Given the description of an element on the screen output the (x, y) to click on. 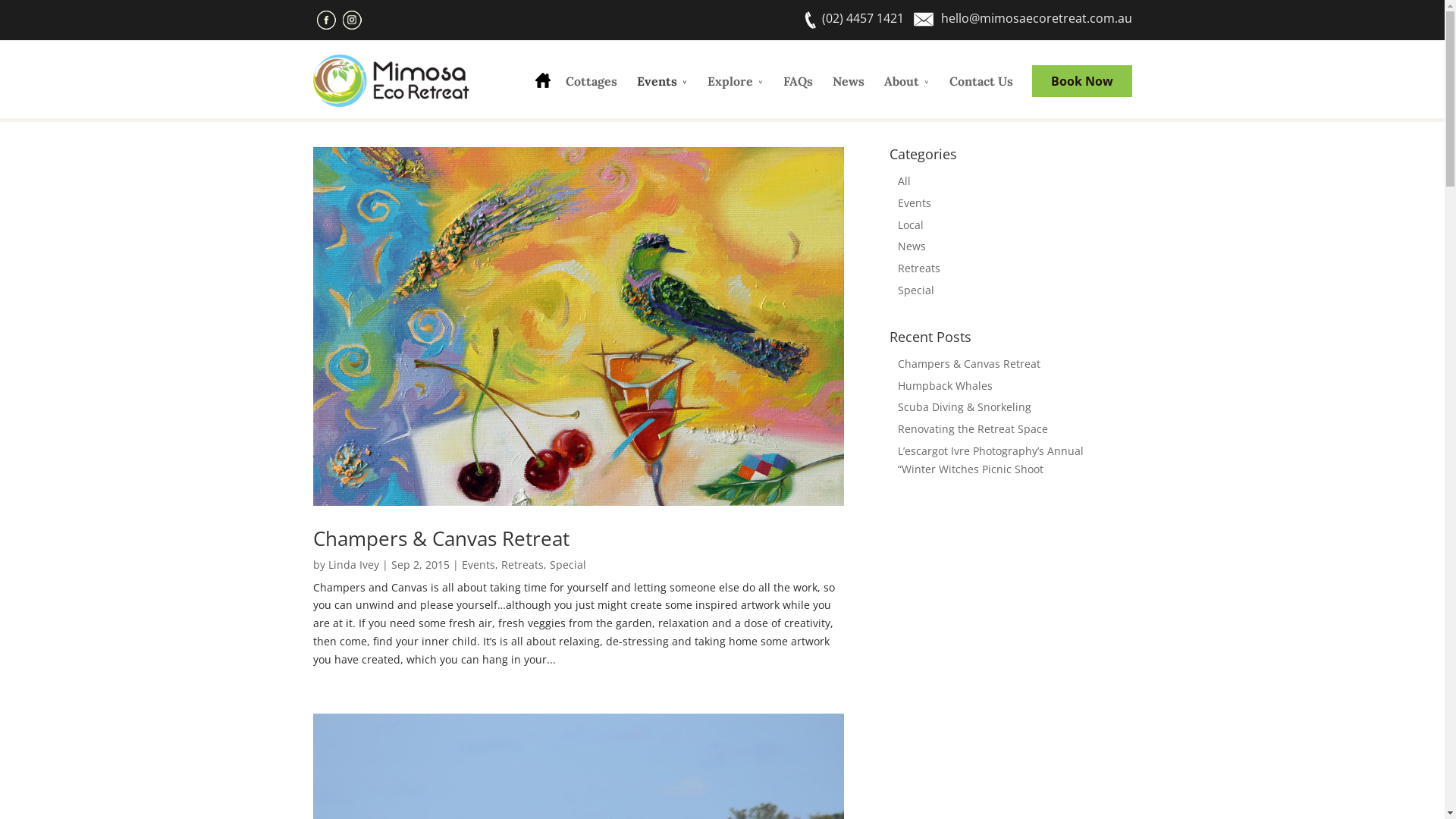
All Element type: text (903, 180)
Explore Element type: text (734, 92)
Book Now Element type: text (1081, 81)
Local Element type: text (910, 224)
hello@mimosaecoretreat.com.au Element type: text (1035, 17)
News Element type: text (848, 92)
Linda Ivey Element type: text (352, 563)
Contact Us Element type: text (981, 92)
Events Element type: text (662, 92)
Renovating the Retreat Space Element type: text (972, 428)
Special Element type: text (915, 289)
Special Element type: text (567, 563)
Champers & Canvas Retreat Element type: text (440, 538)
About Element type: text (906, 92)
Scuba Diving & Snorkeling Element type: text (964, 406)
(02) 4457 1421 Element type: text (862, 17)
Retreats Element type: text (521, 563)
Retreats Element type: text (918, 267)
Cottages Element type: text (591, 92)
Champers & Canvas Retreat Element type: text (968, 363)
FAQs Element type: text (797, 92)
Humpback Whales Element type: text (944, 385)
News Element type: text (911, 245)
Events Element type: text (914, 202)
Events Element type: text (477, 563)
